Given the description of an element on the screen output the (x, y) to click on. 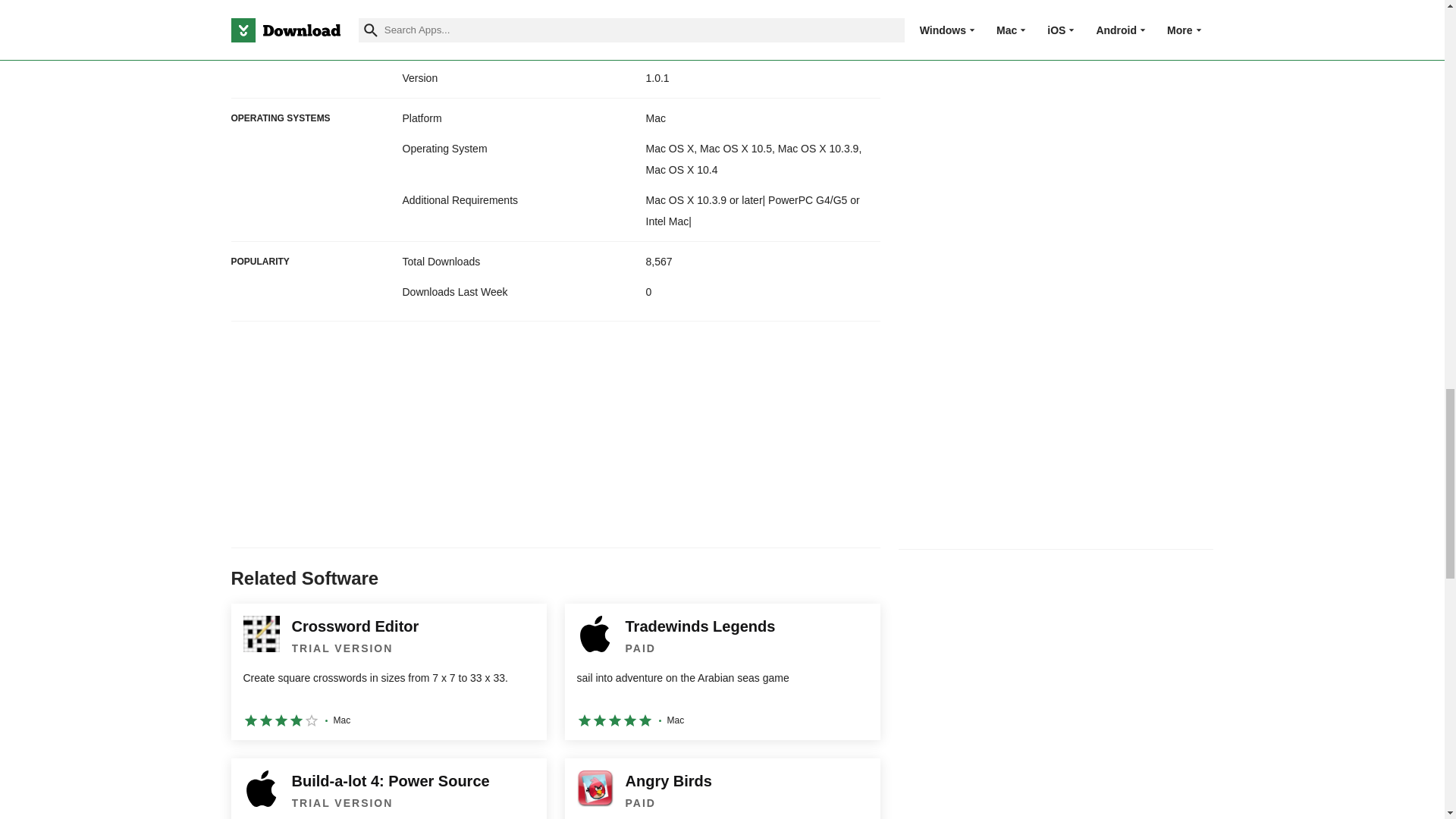
Tradewinds Legends (721, 671)
Angry Birds (721, 788)
Crossword Editor (388, 671)
Build-a-lot 4: Power Source (388, 788)
